Given the description of an element on the screen output the (x, y) to click on. 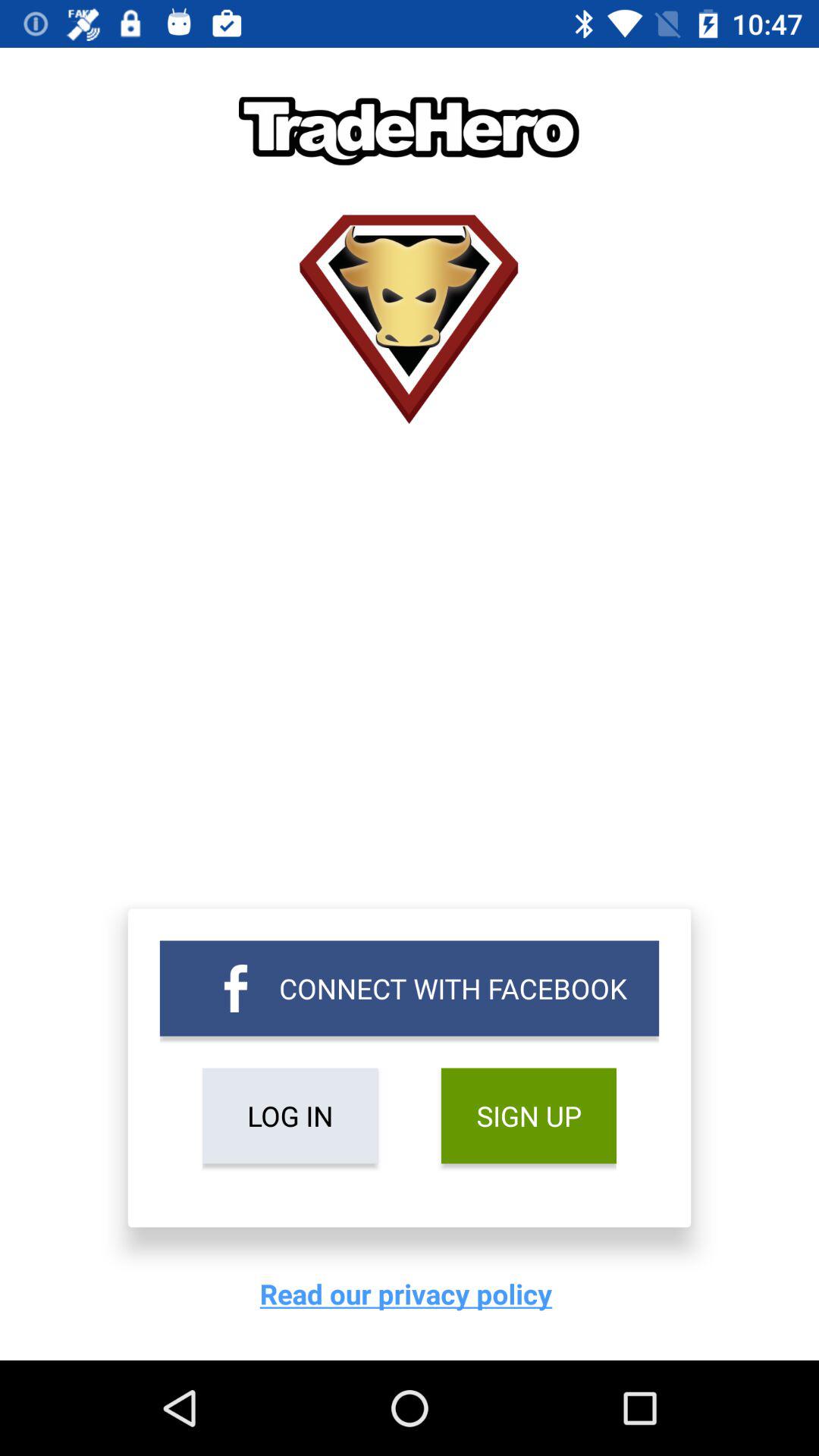
tap the item below the connect with facebook item (528, 1115)
